Given the description of an element on the screen output the (x, y) to click on. 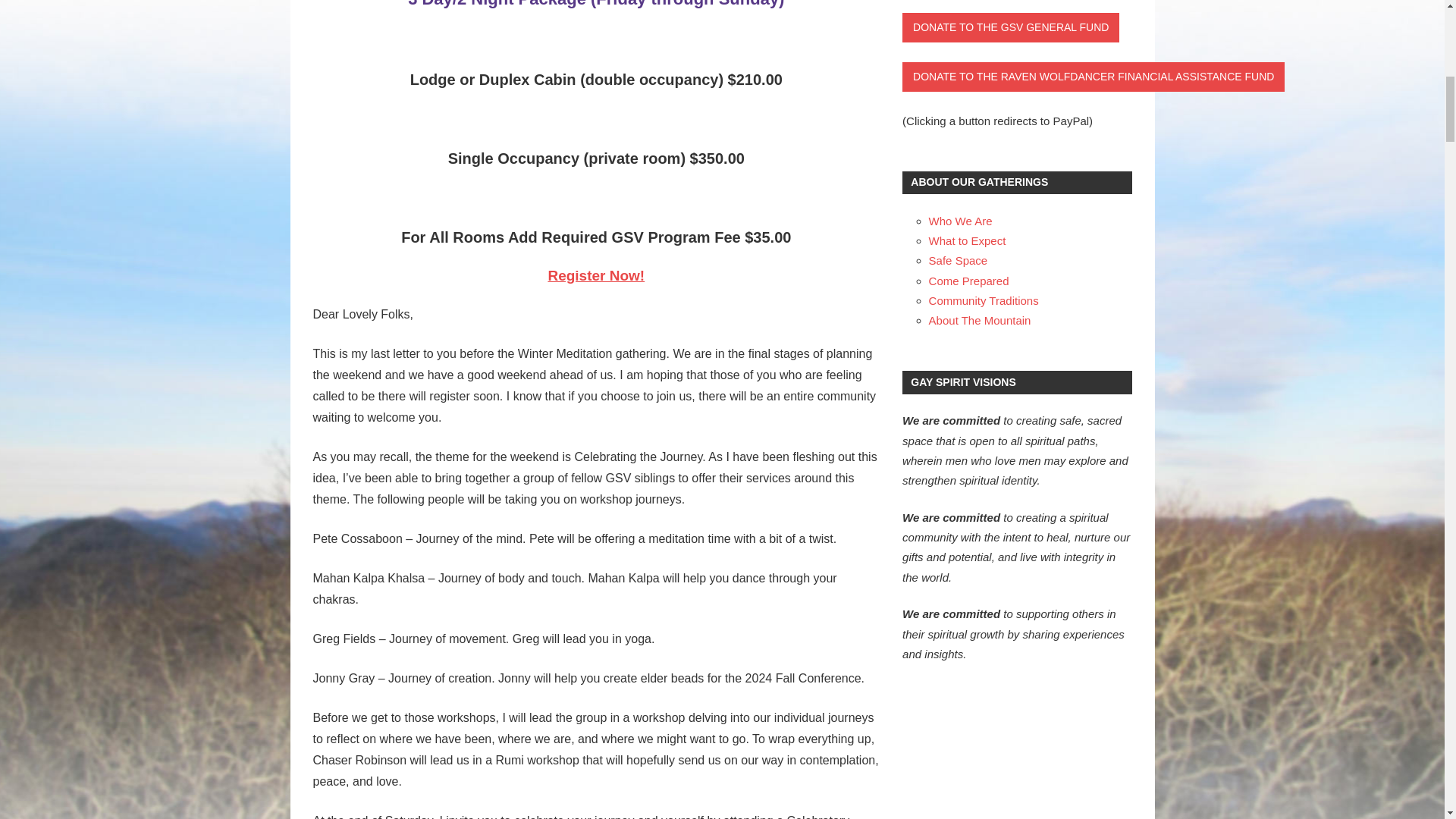
Donate to the GSV General Fund (1010, 27)
Register Now! (596, 275)
Donate to the Raven Wolfdancer Financial Assistance Fund (1093, 76)
